Given the description of an element on the screen output the (x, y) to click on. 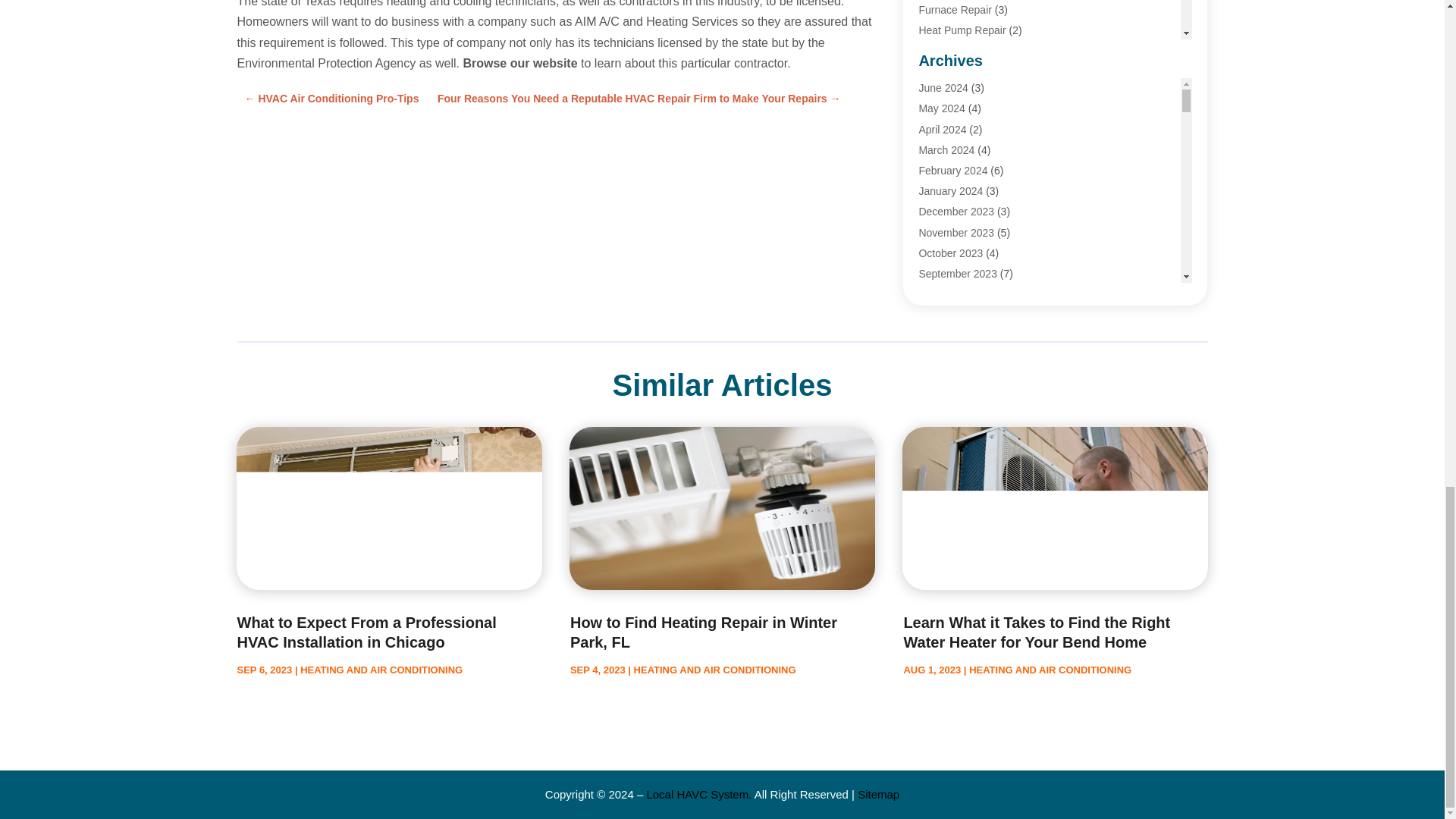
Heating And Air Conditioning (985, 112)
Heating (936, 50)
Heat Pump Repair (962, 30)
Furnace Repair (954, 9)
Heating Contractor (962, 133)
